Given the description of an element on the screen output the (x, y) to click on. 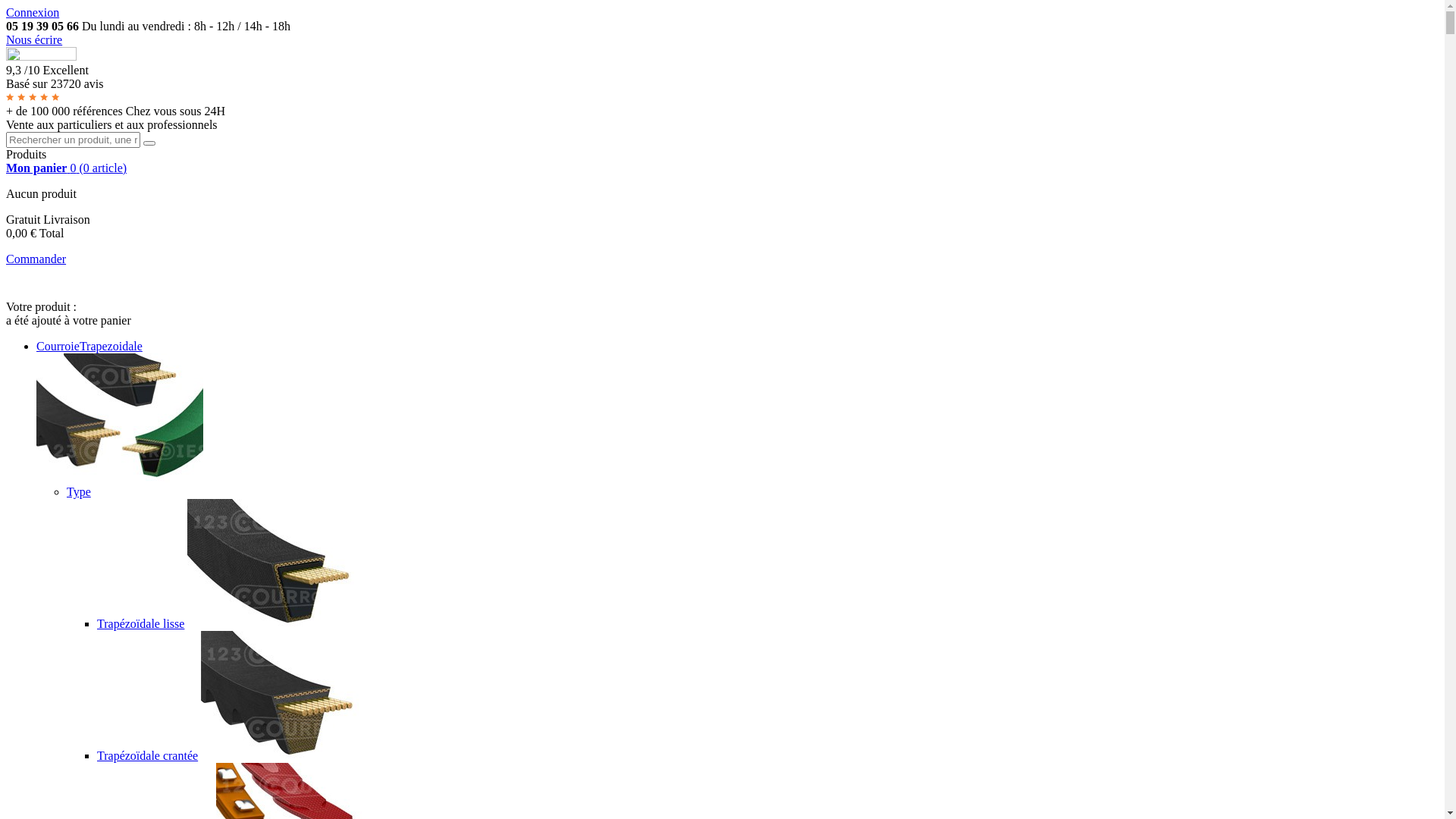
Commander Element type: text (35, 258)
Mon panier 0 (0 article) Element type: text (66, 167)
Type Element type: text (78, 491)
CourroieTrapezoidale Element type: text (89, 345)
Connexion Element type: text (32, 12)
